Given the description of an element on the screen output the (x, y) to click on. 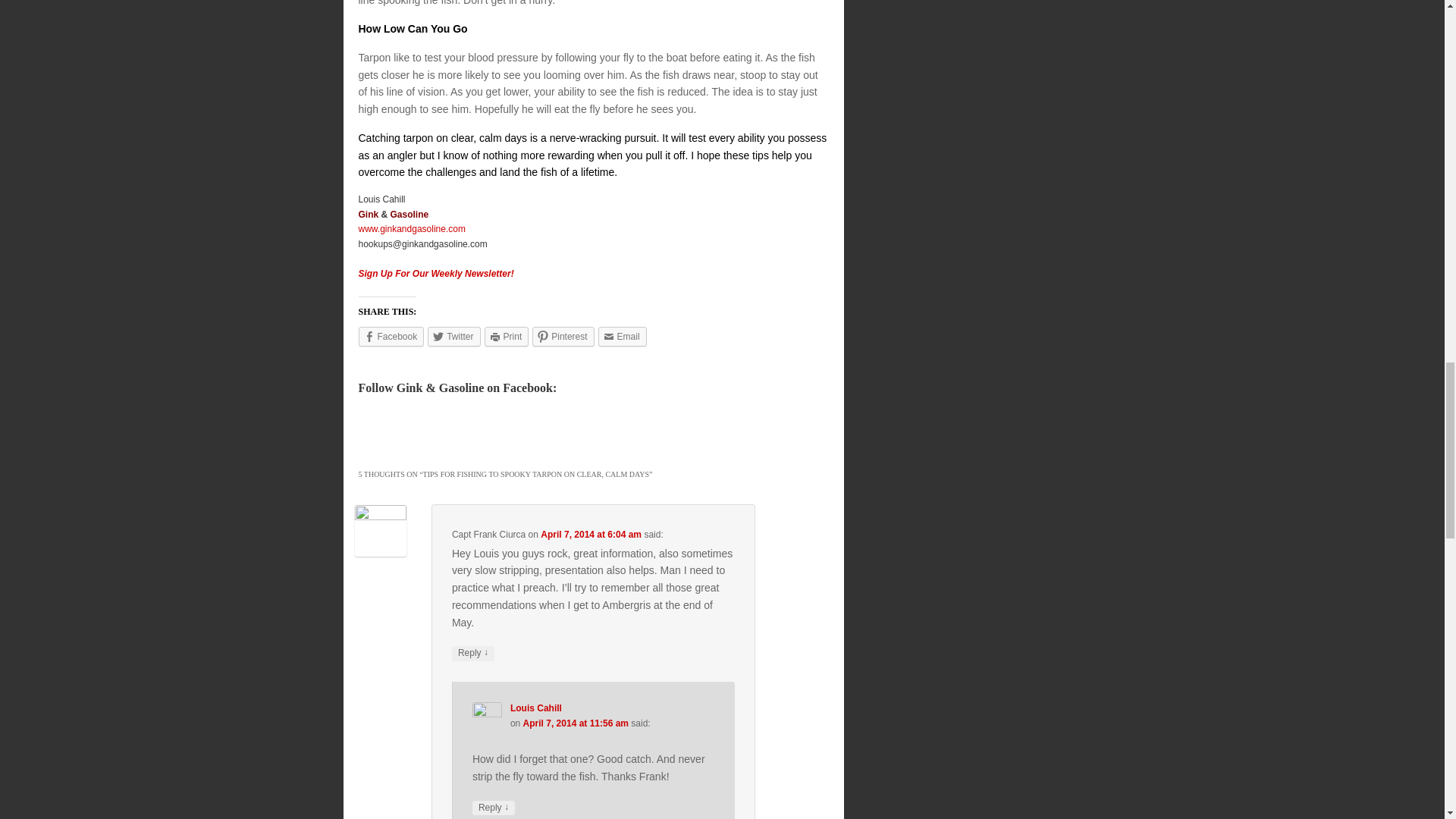
Pinterest (563, 336)
Email (622, 336)
Click to share on Pinterest (563, 336)
www.ginkandgasoline.com (411, 228)
Click to print (506, 336)
Twitter (454, 336)
Click to share on Twitter (454, 336)
Click to email this to a friend (622, 336)
Print (506, 336)
Share on Facebook (390, 336)
Sign Up For Our Weekly Newsletter! (435, 273)
Facebook (390, 336)
